Given the description of an element on the screen output the (x, y) to click on. 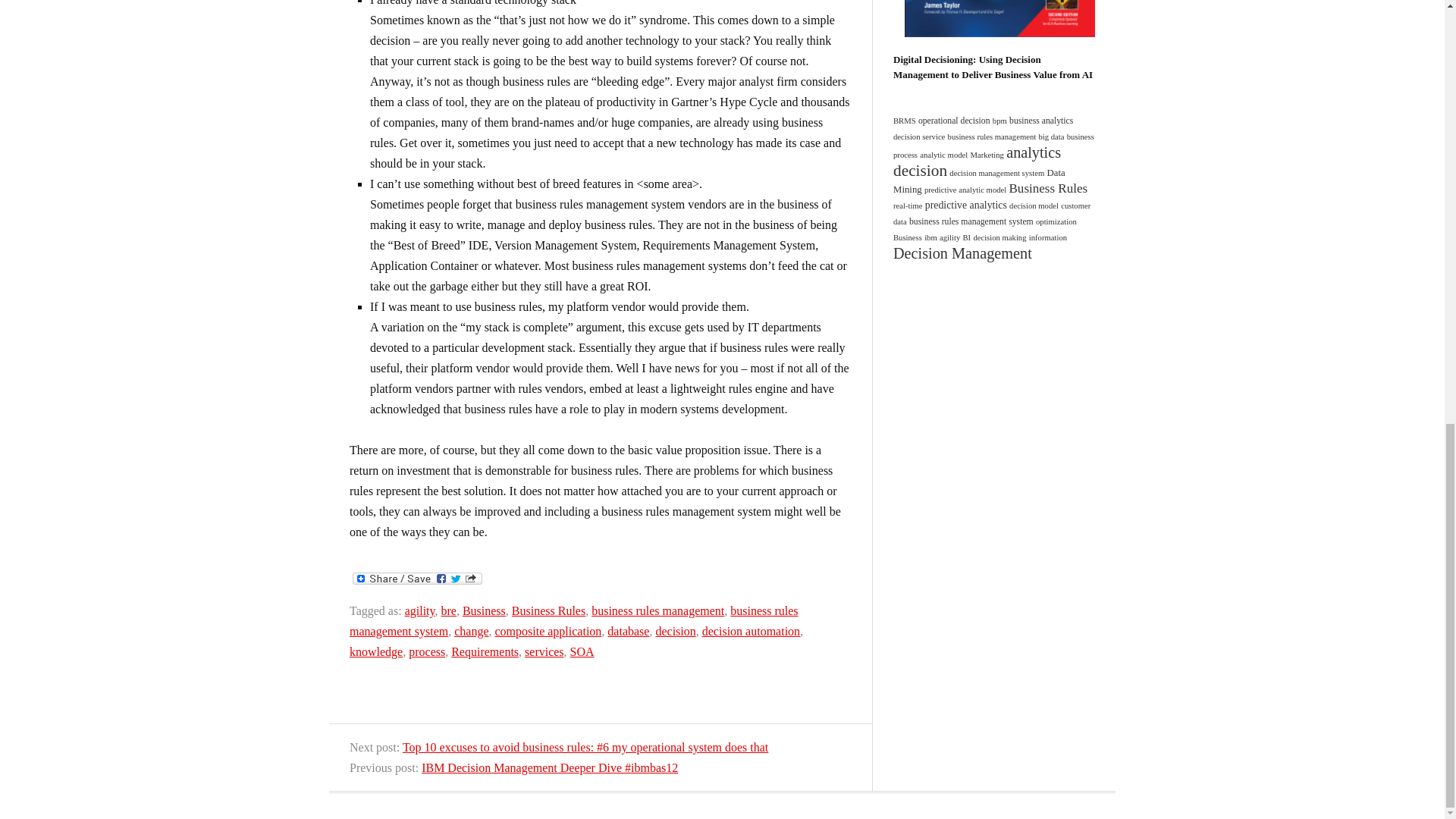
decision automation (750, 631)
database (628, 631)
532 topics (979, 180)
services (544, 651)
267 topics (996, 172)
Business (484, 610)
267 topics (965, 189)
decision (675, 631)
356 topics (954, 121)
442 topics (1041, 121)
